Given the description of an element on the screen output the (x, y) to click on. 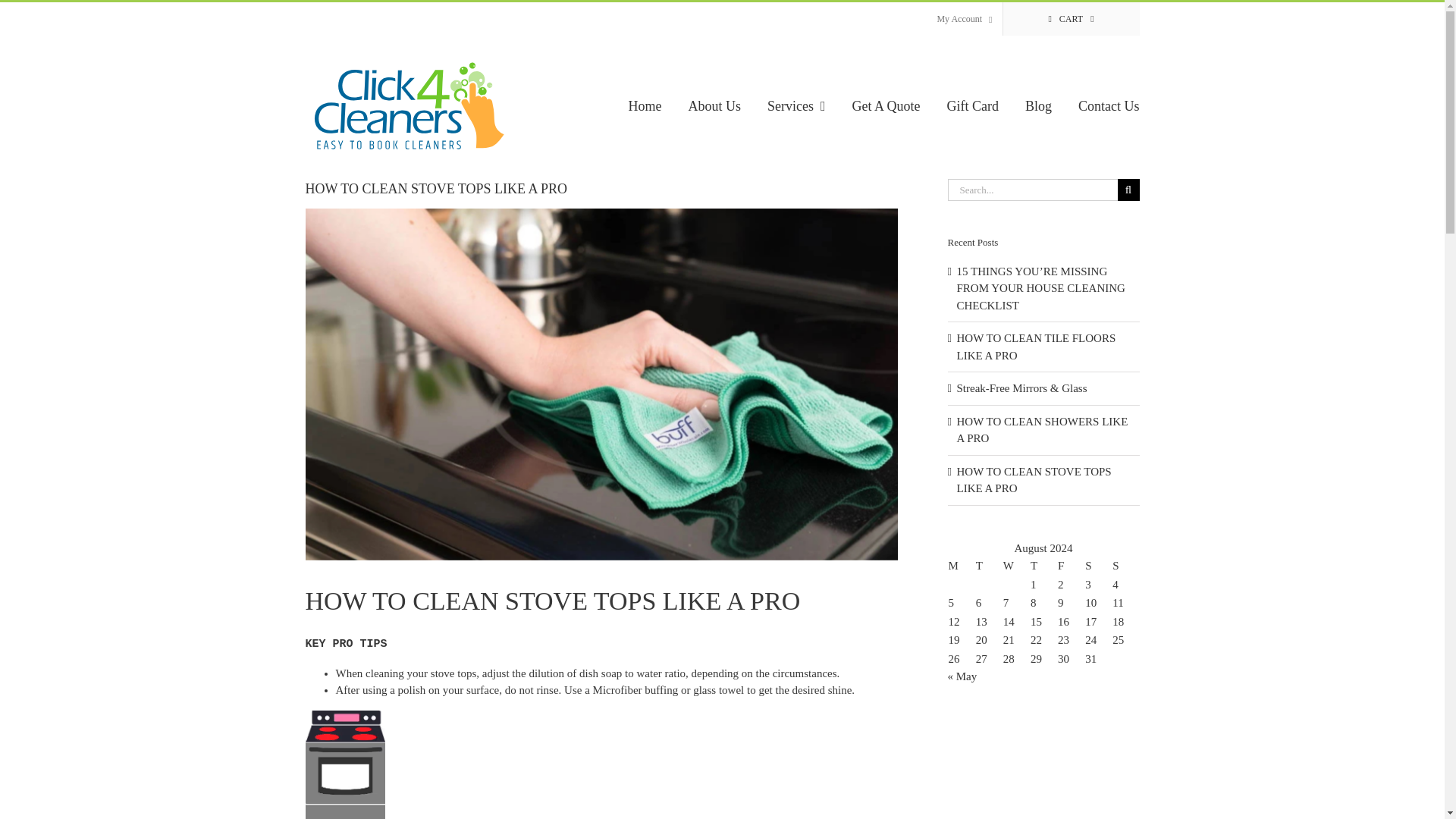
Monday (961, 565)
Log In (1016, 146)
CART (1070, 19)
My Account (963, 19)
